Given the description of an element on the screen output the (x, y) to click on. 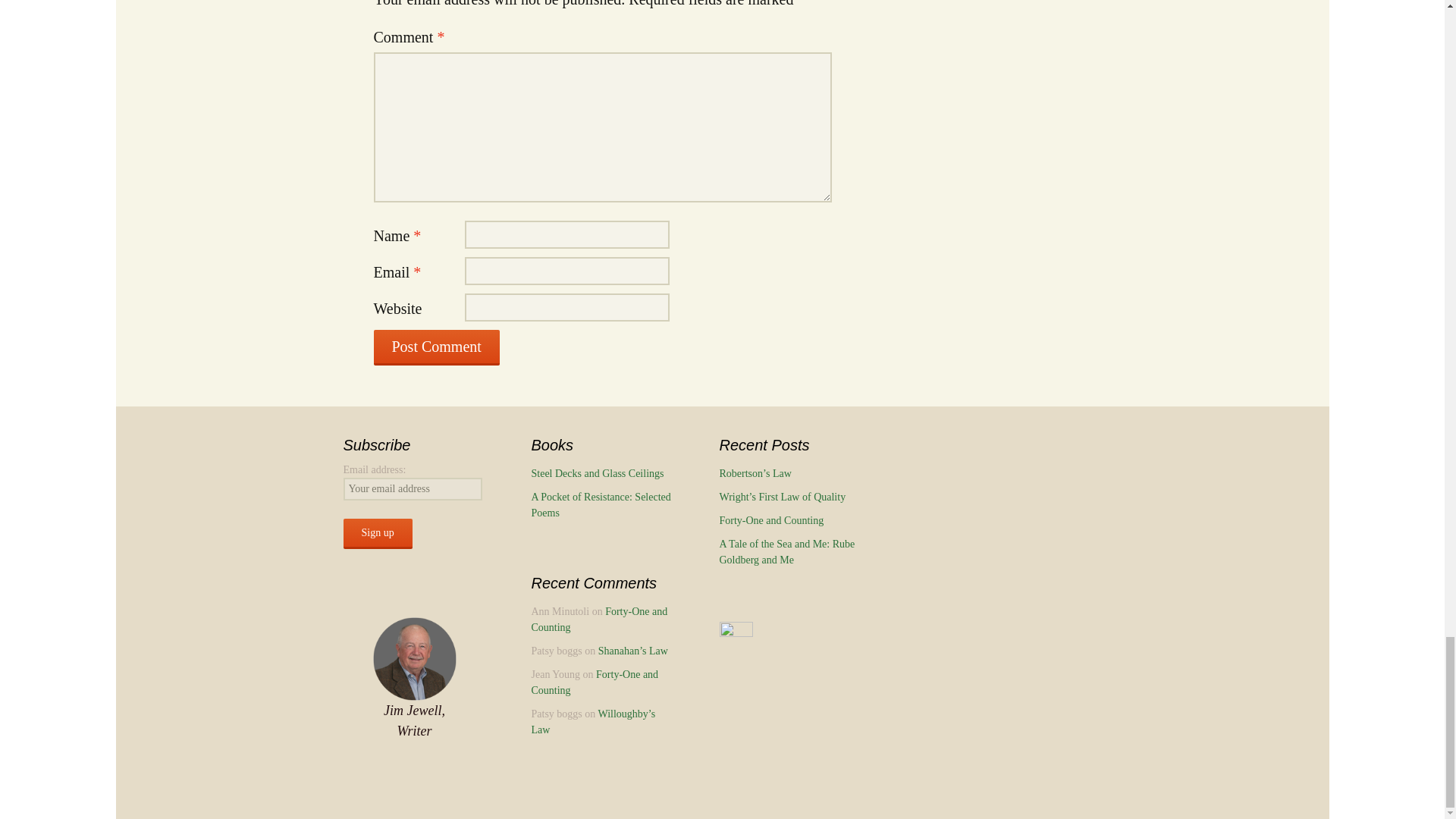
A Pocket of Resistance: Selected Poems (600, 504)
Post Comment (435, 347)
Sign up (377, 533)
Sign up (377, 533)
Steel Decks and Glass Ceilings (597, 473)
Post Comment (435, 347)
